Given the description of an element on the screen output the (x, y) to click on. 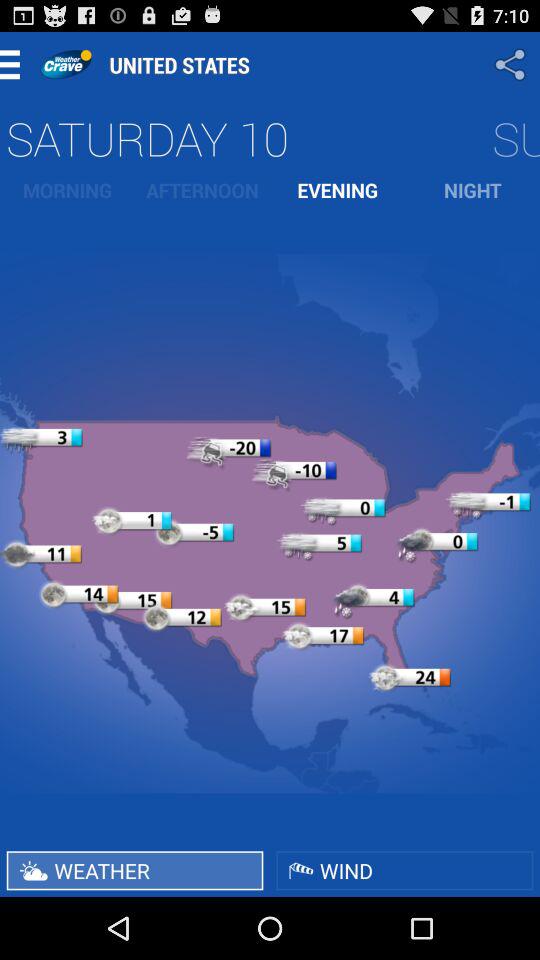
launch the icon to the left of the night (337, 190)
